Given the description of an element on the screen output the (x, y) to click on. 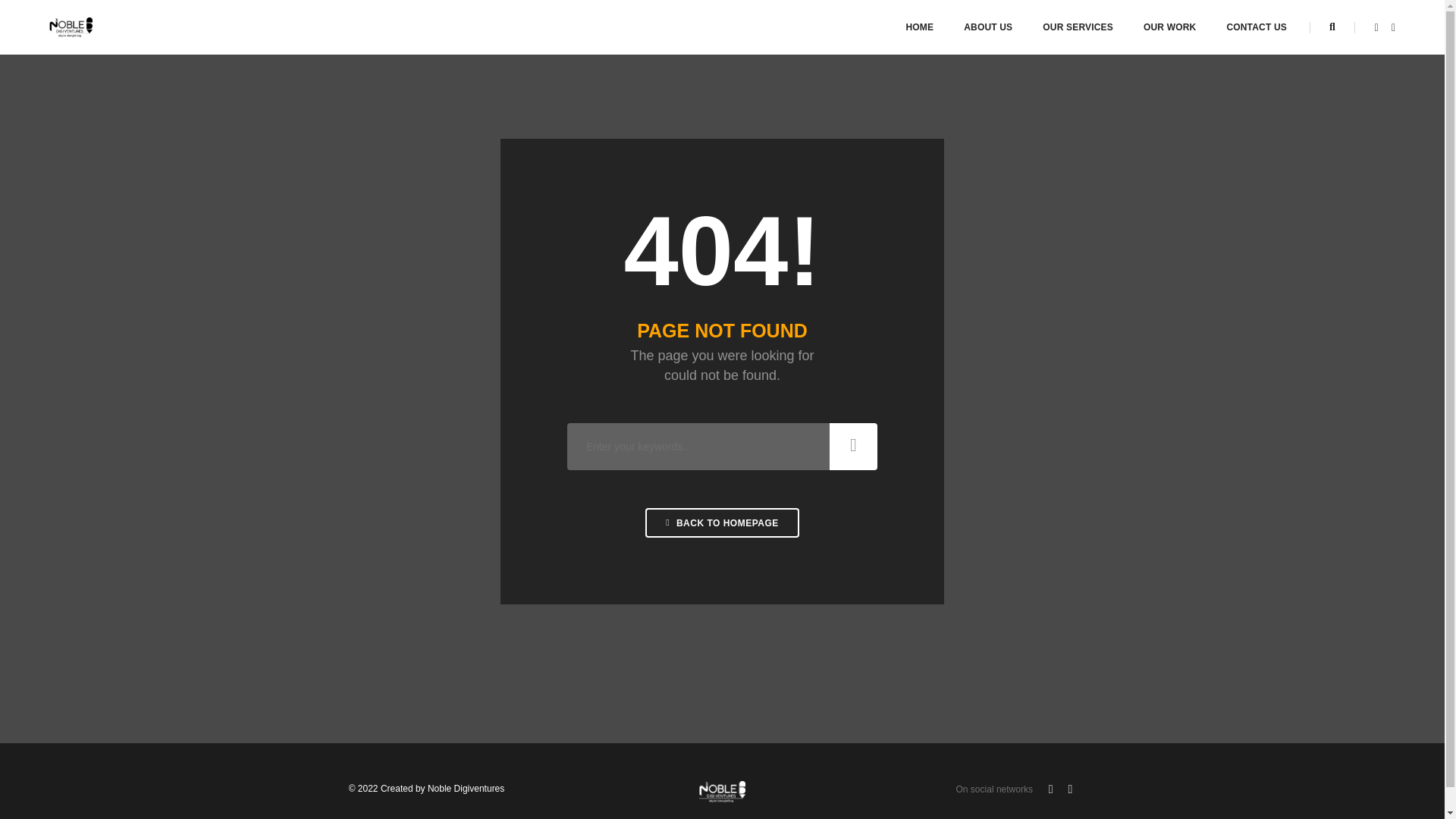
 BACK TO HOMEPAGE (722, 522)
OUR SERVICES (1077, 27)
OUR WORK (1168, 27)
Noble Digiventures (71, 26)
CONTACT US (1256, 27)
